Given the description of an element on the screen output the (x, y) to click on. 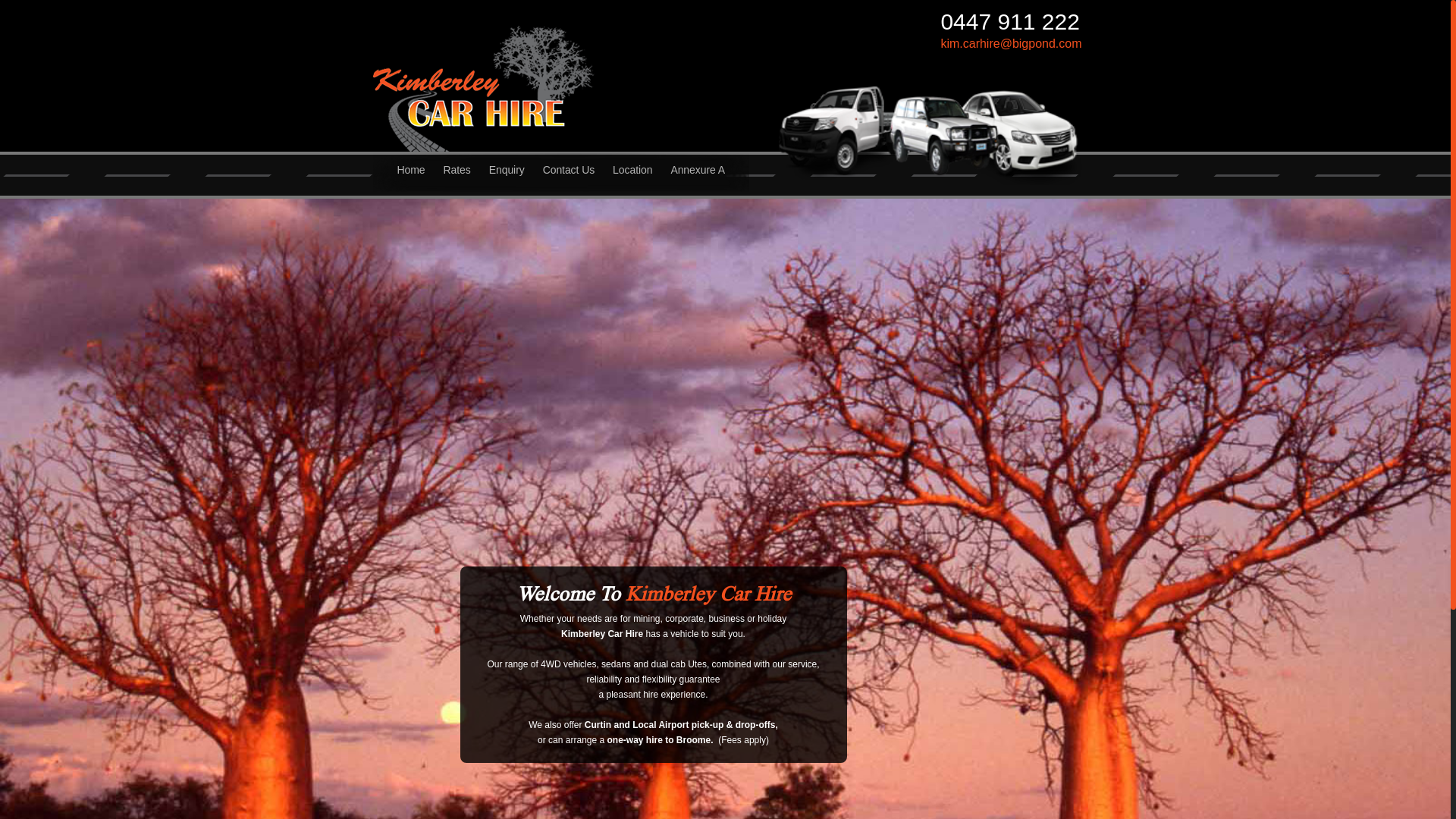
Contact Us Element type: text (568, 177)
Enquiry Element type: text (506, 177)
Location Element type: text (632, 177)
Rates Element type: text (457, 177)
Home Element type: text (411, 177)
Annexure A Element type: text (697, 177)
